Given the description of an element on the screen output the (x, y) to click on. 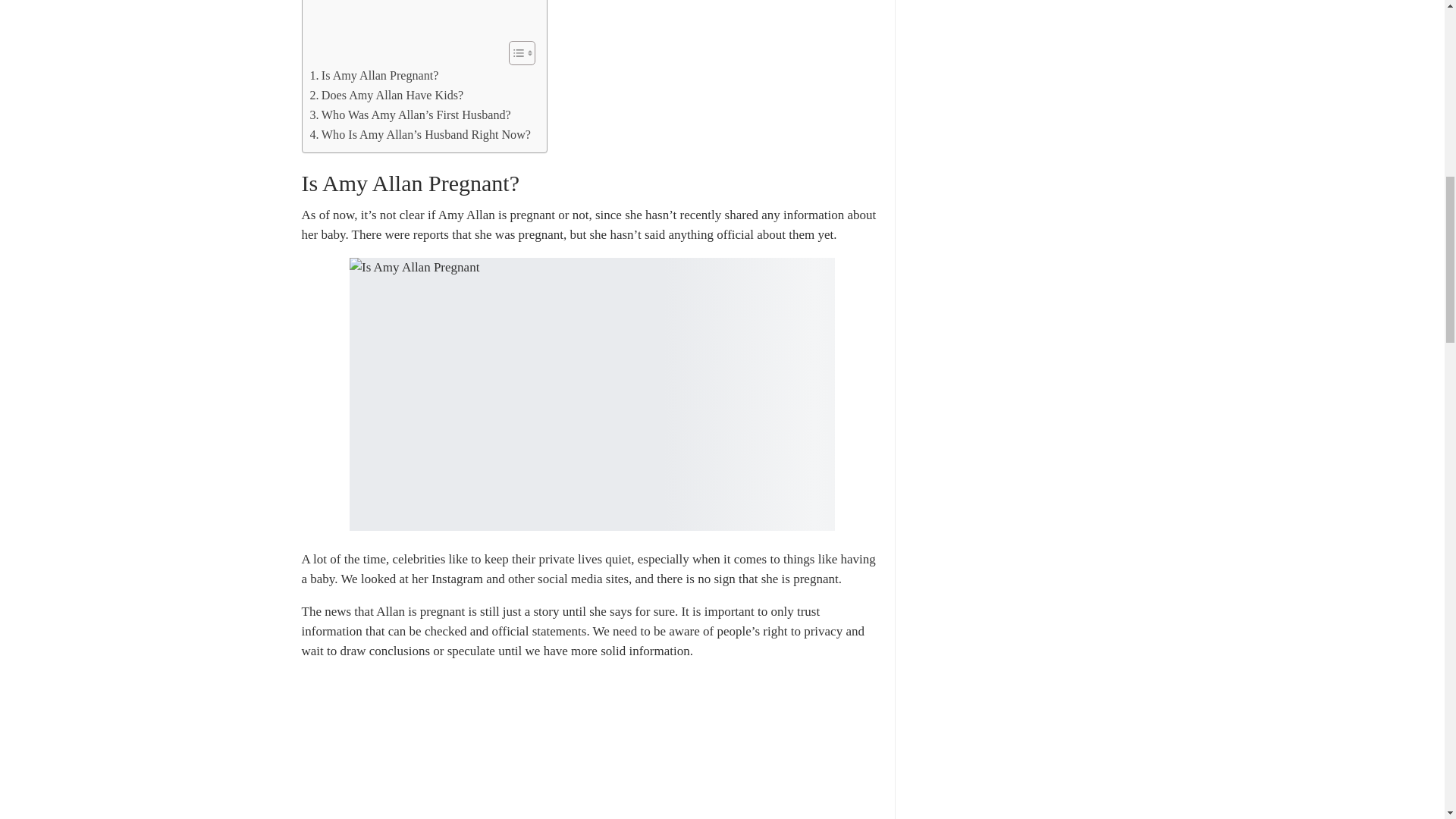
Advertisement (419, 20)
Does Amy Allan Have Kids? (385, 101)
Is Amy Allan Pregnant? (373, 81)
